Given the description of an element on the screen output the (x, y) to click on. 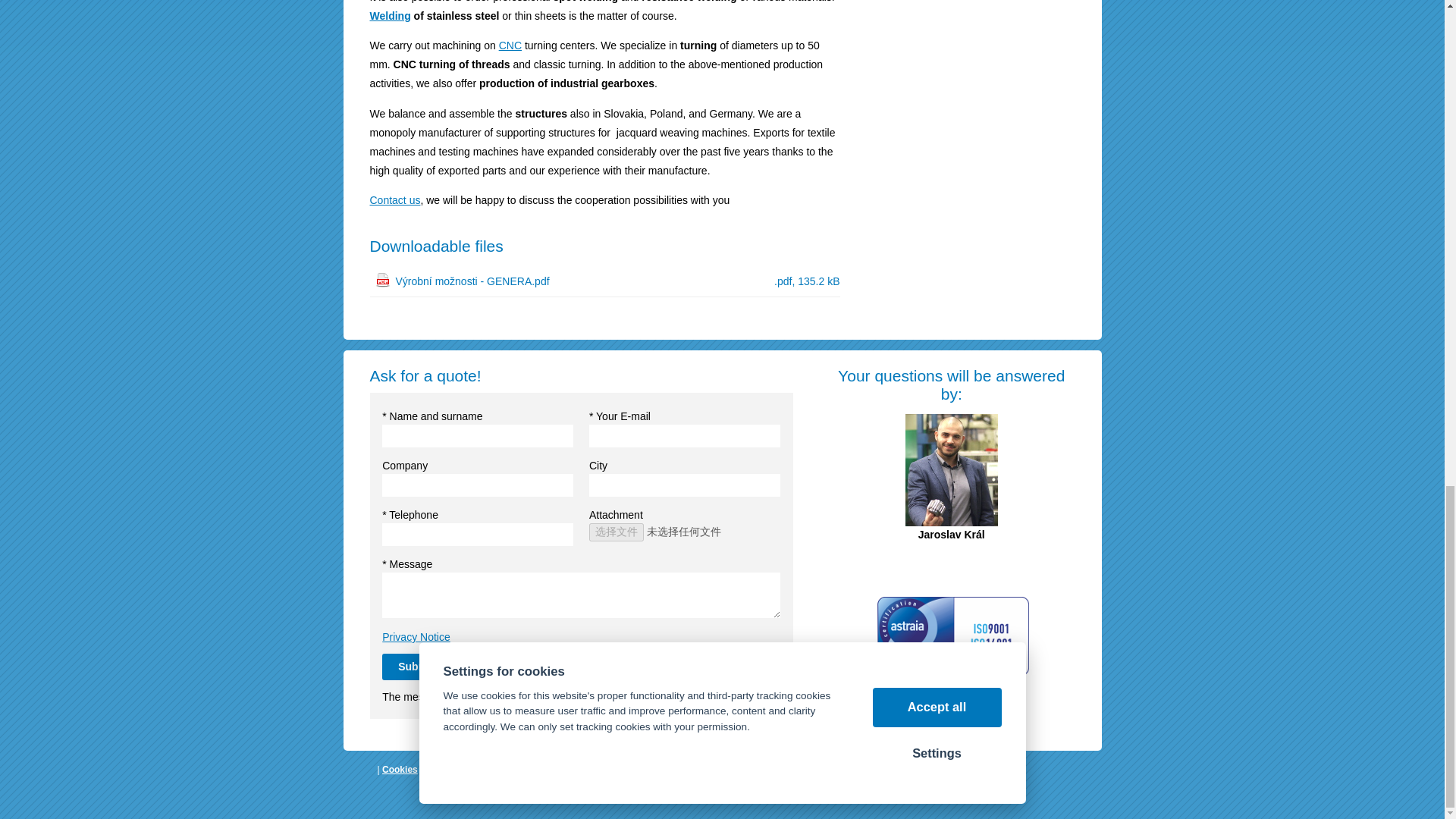
Contact us (394, 200)
CNC (510, 45)
Submit (415, 666)
Privacy Notice (415, 636)
Link exchange (499, 769)
Cookies (399, 769)
Welding (389, 15)
Sitemap (443, 769)
